Given the description of an element on the screen output the (x, y) to click on. 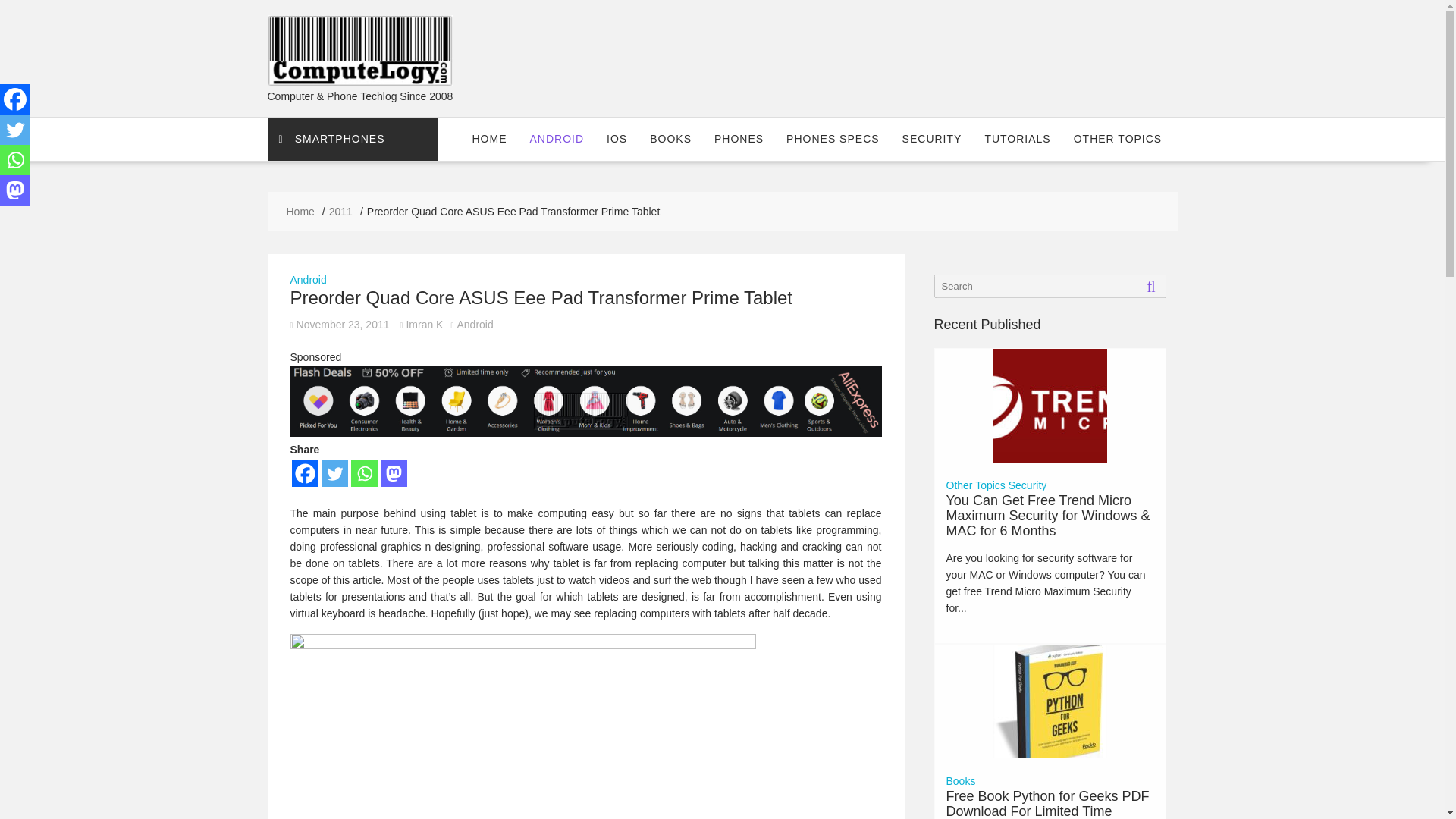
ANDROID (556, 138)
Imran K (420, 324)
PHONES SPECS (831, 138)
Facebook (304, 473)
Twitter (334, 473)
OTHER TOPICS (1117, 138)
Mastodon (393, 473)
Android (307, 279)
